Given the description of an element on the screen output the (x, y) to click on. 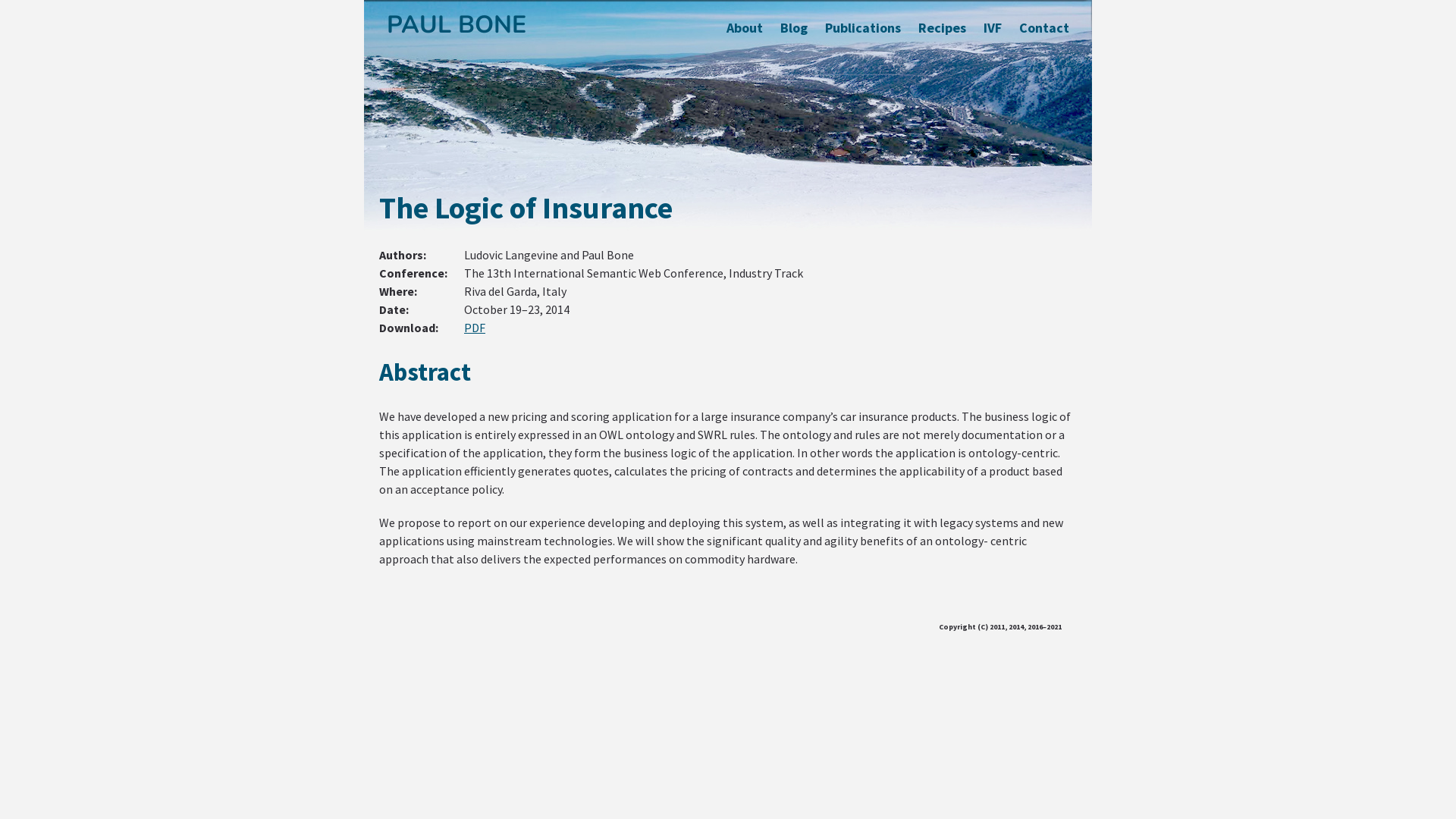
Contact Element type: text (1044, 27)
Publications Element type: text (862, 27)
PDF Element type: text (474, 327)
PAUL BONE Element type: text (456, 24)
Blog Element type: text (793, 27)
About Element type: text (744, 27)
Recipes Element type: text (942, 27)
IVF Element type: text (992, 27)
